Given the description of an element on the screen output the (x, y) to click on. 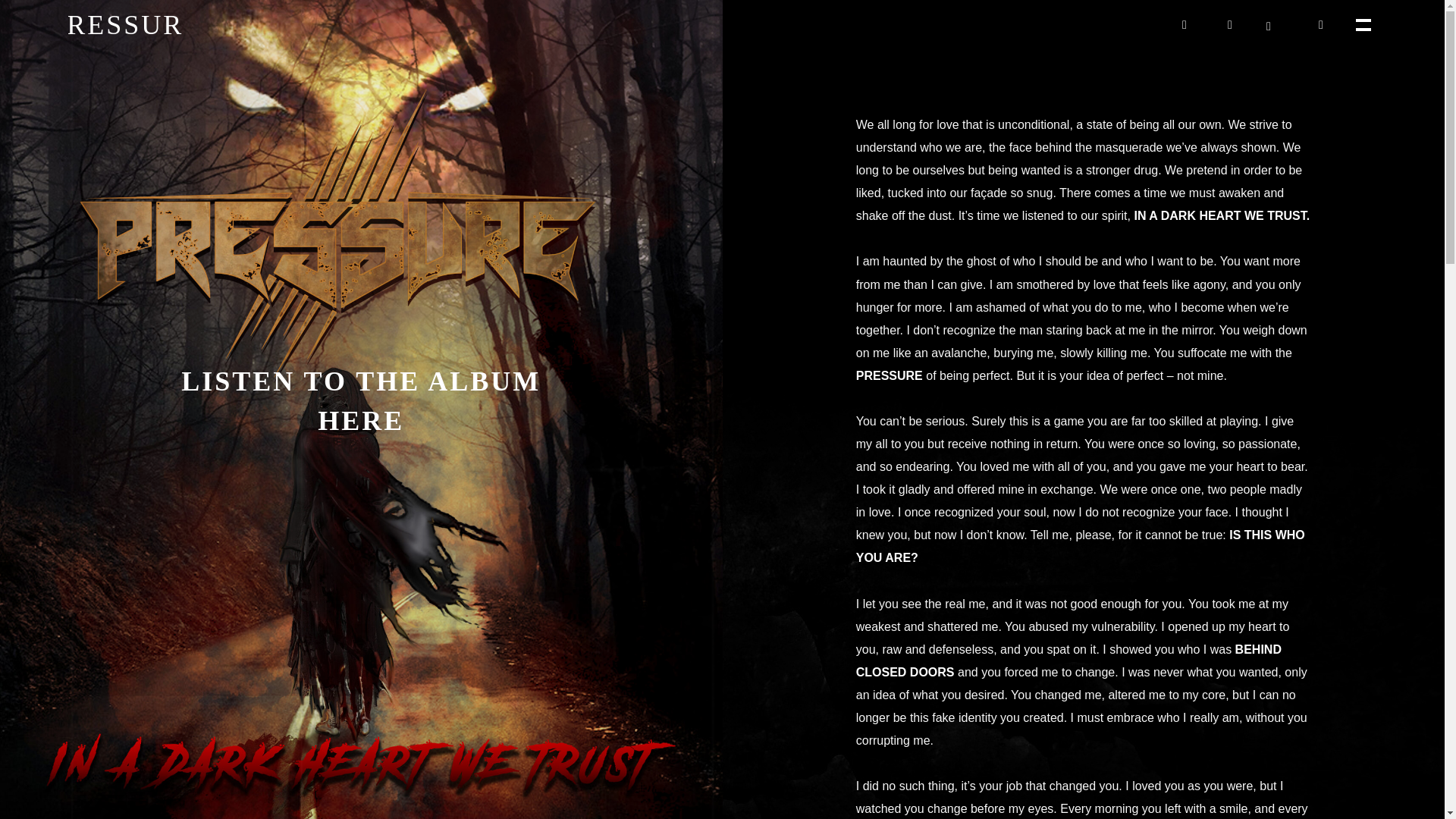
facebook (1184, 24)
Menu (1361, 22)
instagram (1229, 24)
spotify (1320, 24)
